Given the description of an element on the screen output the (x, y) to click on. 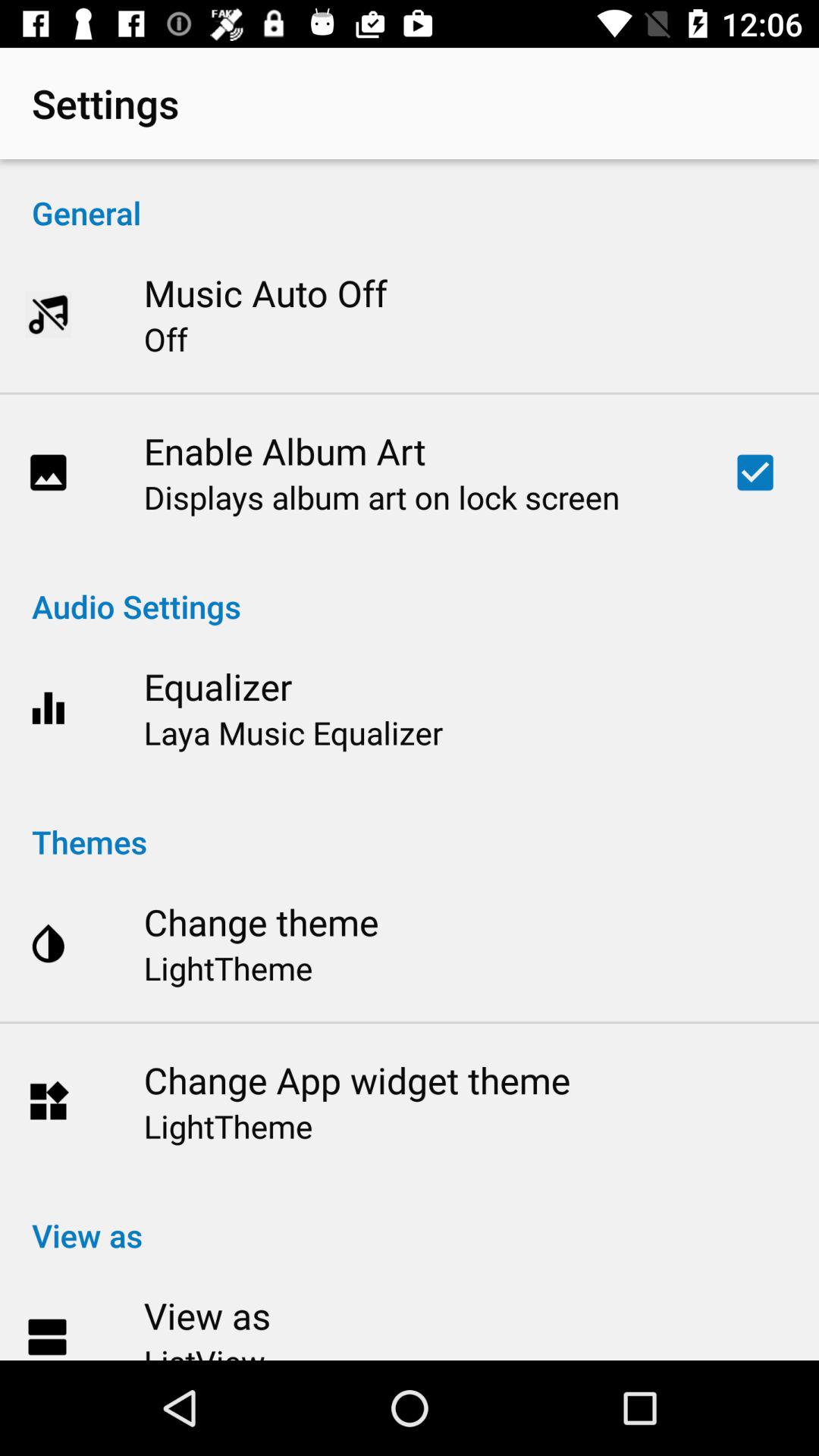
tap the item at the top right corner (755, 472)
